Given the description of an element on the screen output the (x, y) to click on. 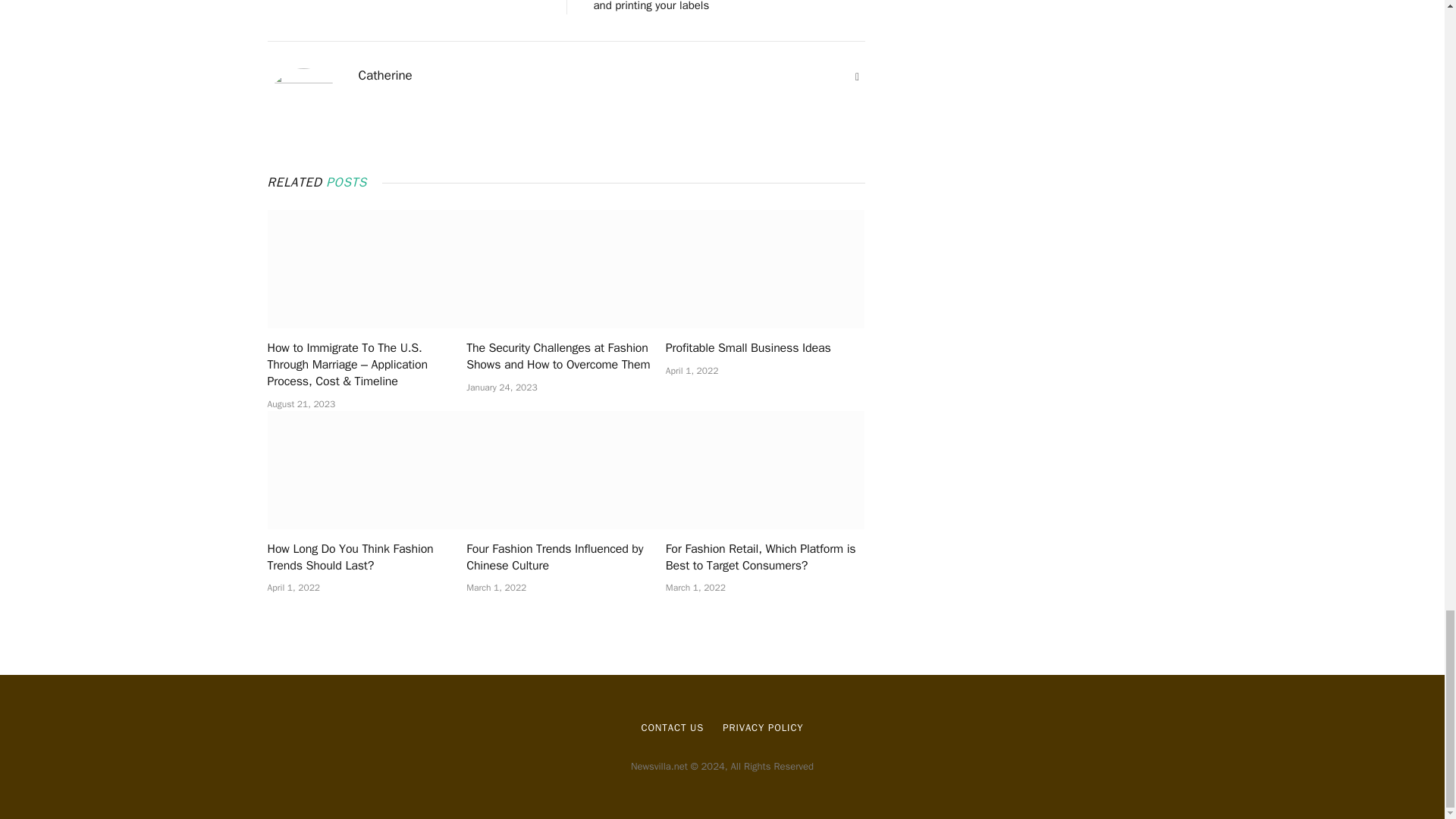
How Long Do You Think Fashion Trends Should Last? (365, 470)
Catherine (385, 75)
Profitable Small Business Ideas (764, 268)
Website (856, 77)
How Long Do You Think Fashion Trends Should Last? (365, 557)
Website (856, 77)
Four Fashion Trends Influenced by Chinese Culture (565, 557)
Profitable Small Business Ideas (764, 348)
Posts by Catherine (385, 75)
